Given the description of an element on the screen output the (x, y) to click on. 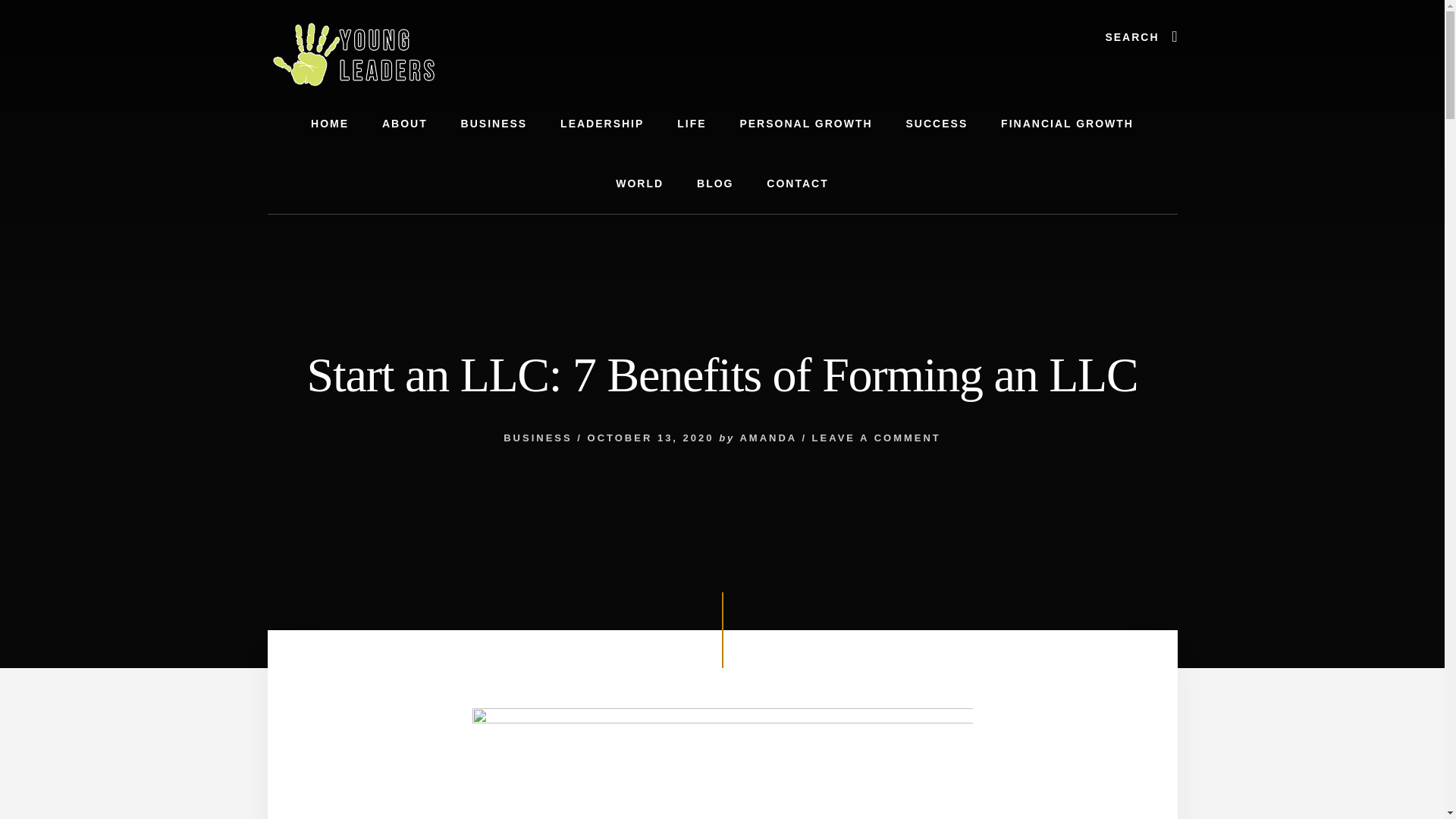
LEAVE A COMMENT (876, 437)
HOME (329, 123)
LEADERSHIP (601, 123)
AMANDA (767, 437)
BLOG (714, 183)
CONTACT (797, 183)
BUSINESS (537, 437)
ABOUT (404, 123)
LIFE (691, 123)
